Given the description of an element on the screen output the (x, y) to click on. 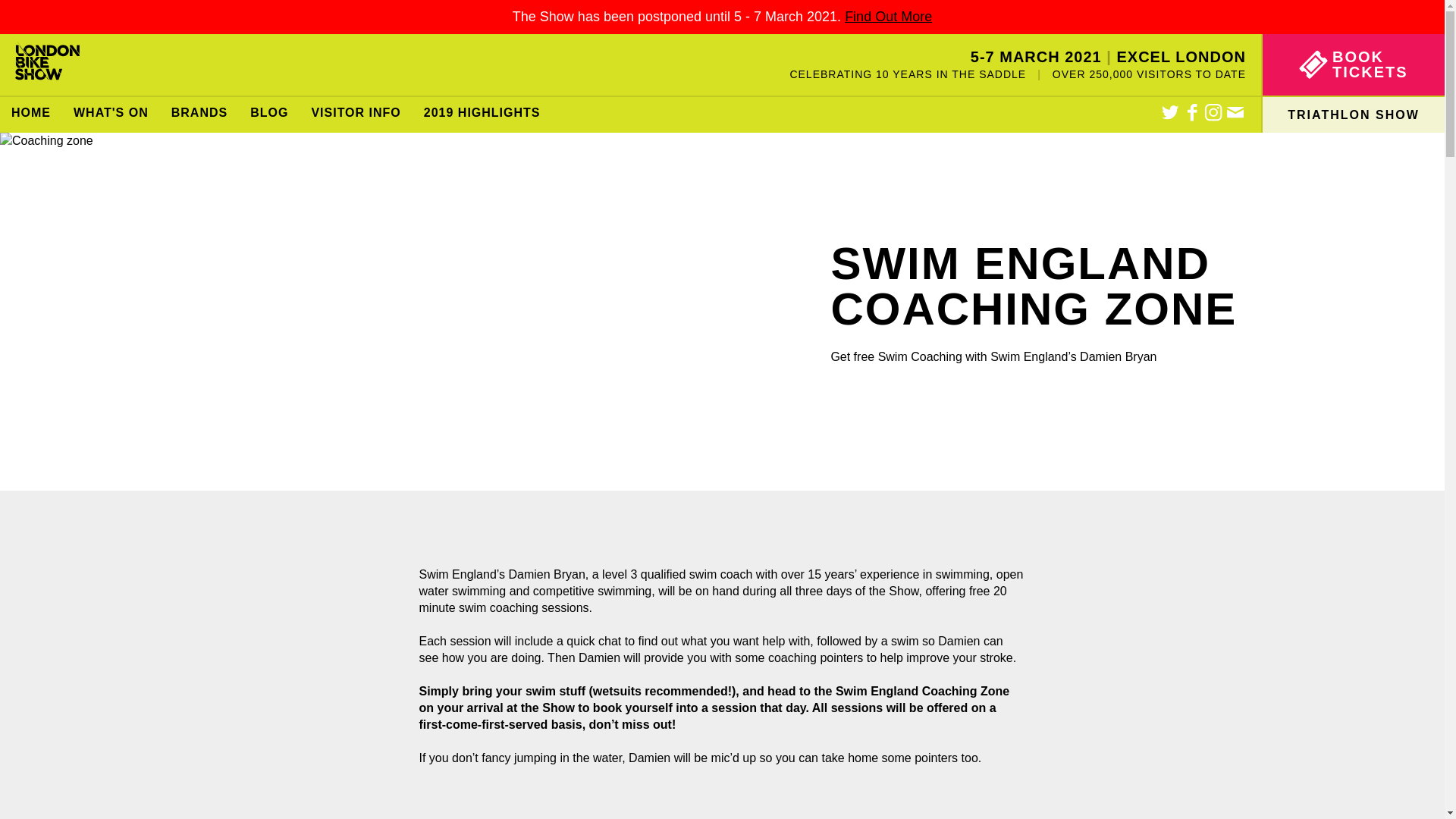
2019 HIGHLIGHTS (481, 114)
WHAT'S ON (111, 114)
BLOG (268, 114)
VISITOR INFO (355, 114)
BRANDS (199, 114)
HOME (31, 114)
Find Out More (887, 16)
